Given the description of an element on the screen output the (x, y) to click on. 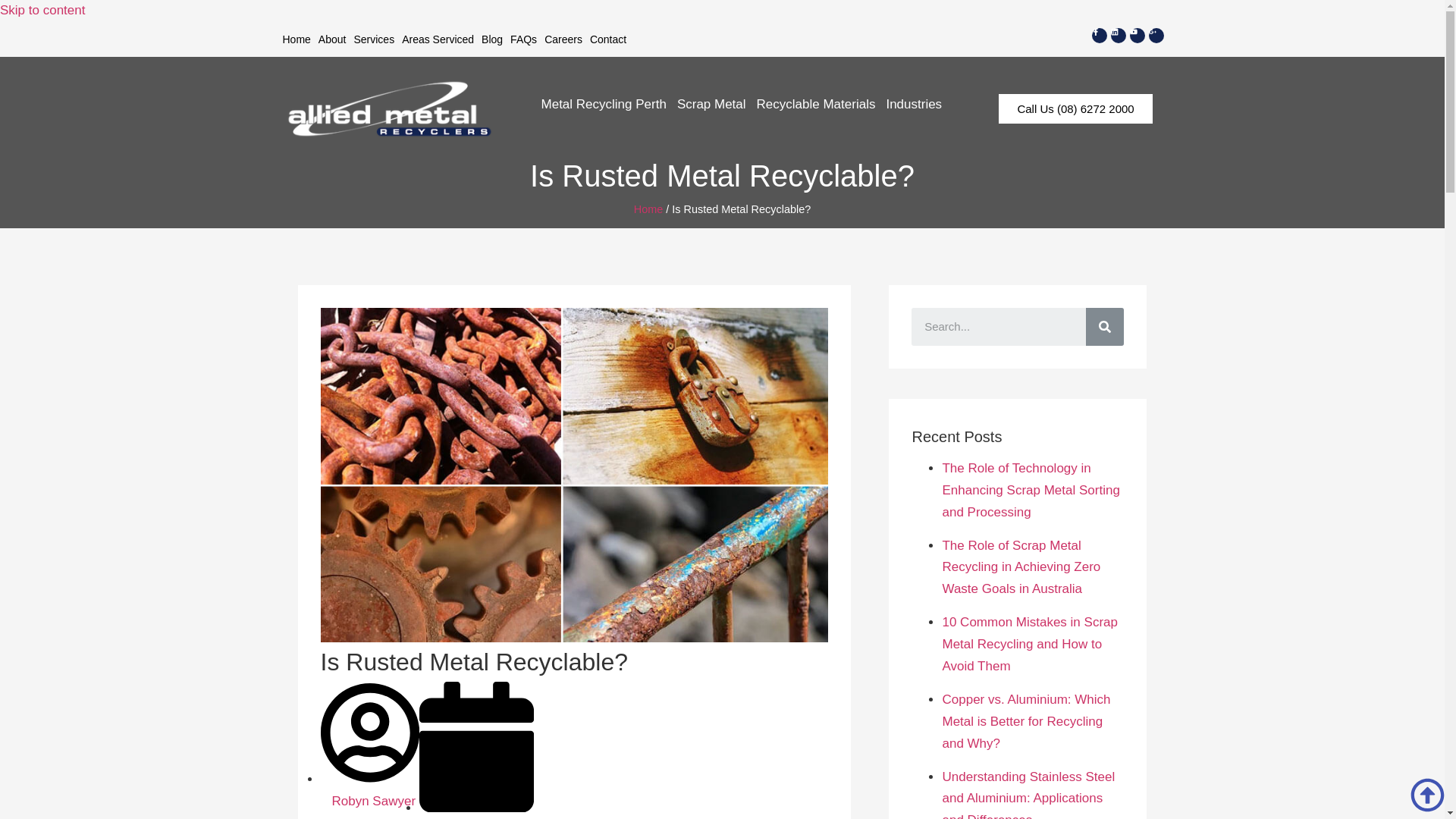
Industries (913, 104)
FAQs (523, 39)
Scrap Metal (711, 104)
Home (296, 39)
Areas Serviced (437, 39)
Careers (563, 39)
Services (373, 39)
Skip to content (42, 10)
About (332, 39)
Contact (608, 39)
